Given the description of an element on the screen output the (x, y) to click on. 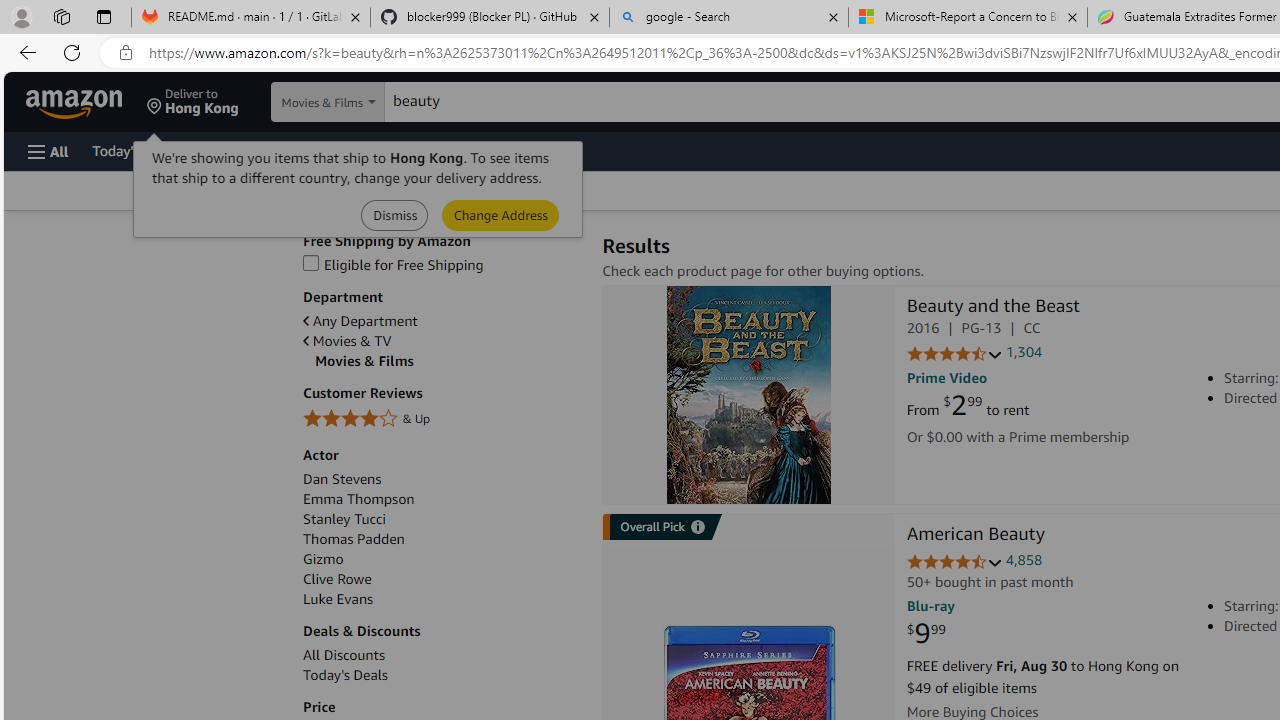
Movies & TV (442, 340)
Back (24, 52)
1,304 (1023, 352)
Eligible for Free Shipping (393, 264)
4,858 (1023, 560)
Clive Rowe (337, 579)
4.6 out of 5 stars (954, 562)
Any Department (442, 321)
Gizmo (323, 559)
Personal Profile (21, 16)
American Beauty (975, 535)
Open Menu (48, 151)
From $2.99 to rent (968, 406)
Clive Rowe (442, 579)
